Given the description of an element on the screen output the (x, y) to click on. 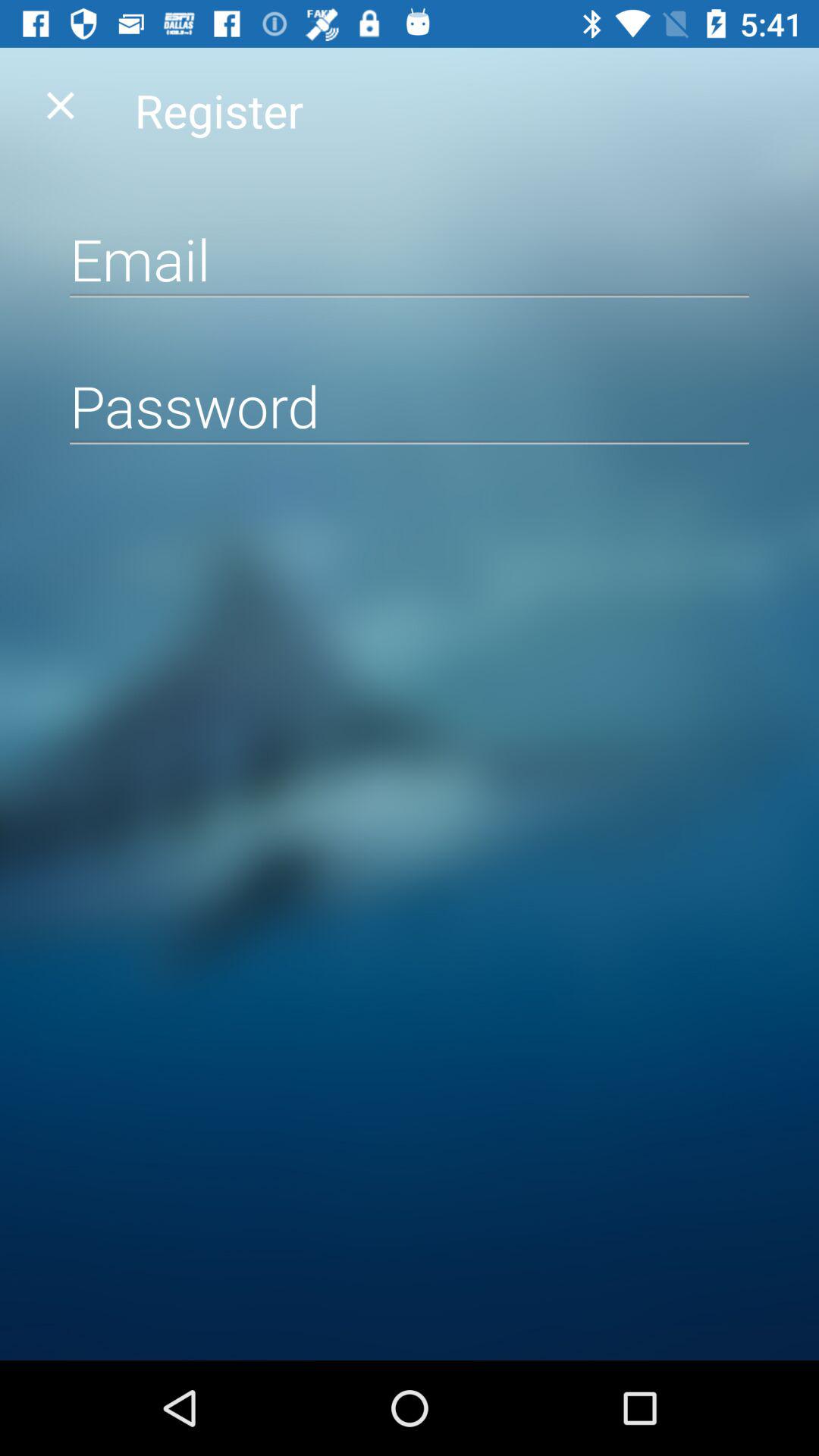
input email (409, 258)
